Given the description of an element on the screen output the (x, y) to click on. 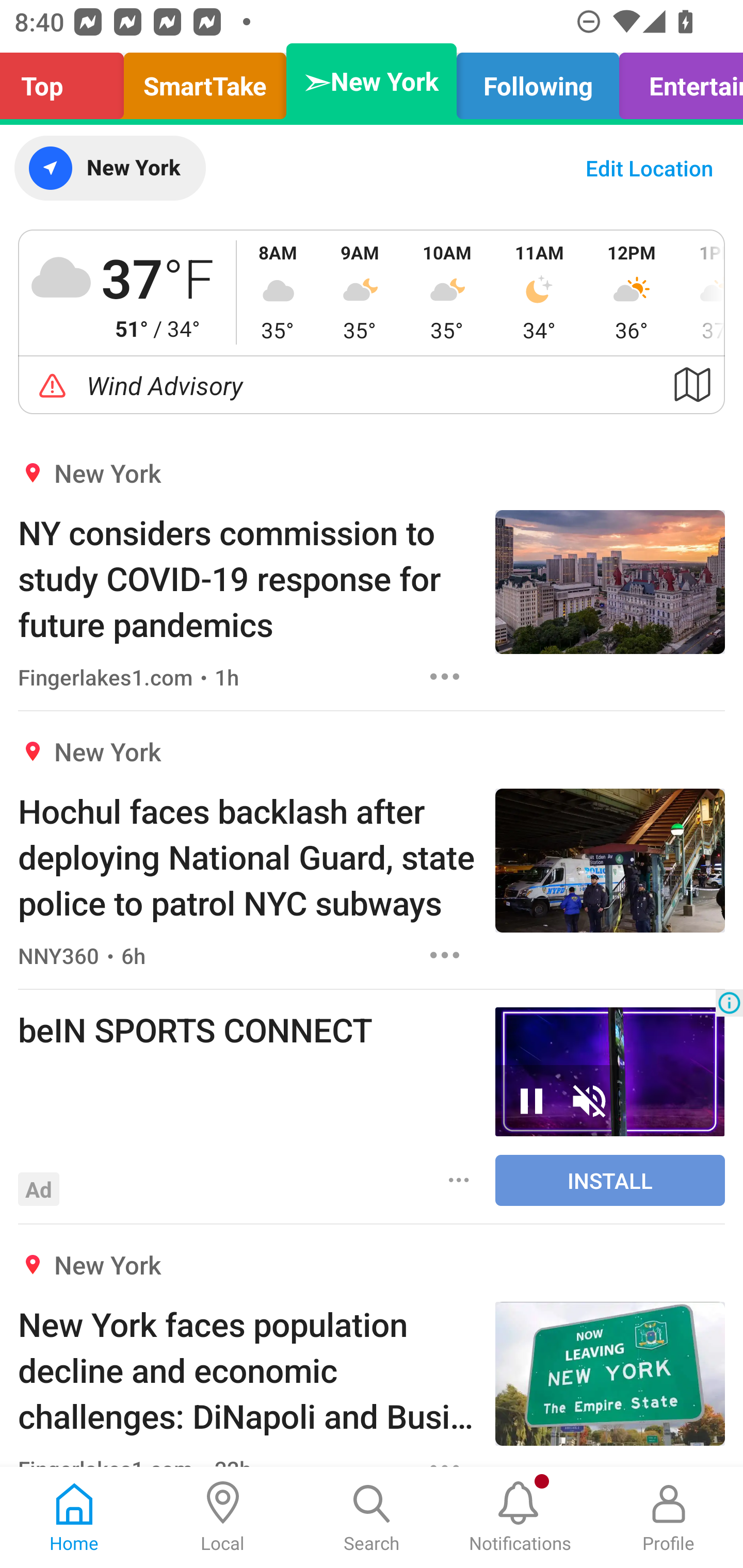
Top (67, 81)
SmartTake (204, 81)
➣New York (371, 81)
Following (537, 81)
New York (109, 168)
Edit Location (648, 168)
8AM 35° (277, 291)
9AM 35° (359, 291)
10AM 35° (447, 291)
11AM 34° (539, 291)
12PM 36° (631, 291)
Wind Advisory (371, 384)
Options (444, 676)
Options (444, 954)
Ad Choices Icon (729, 1002)
beIN SPORTS CONNECT (247, 1029)
INSTALL (610, 1180)
Options (459, 1179)
Local (222, 1517)
Search (371, 1517)
Notifications, New notification Notifications (519, 1517)
Profile (668, 1517)
